Given the description of an element on the screen output the (x, y) to click on. 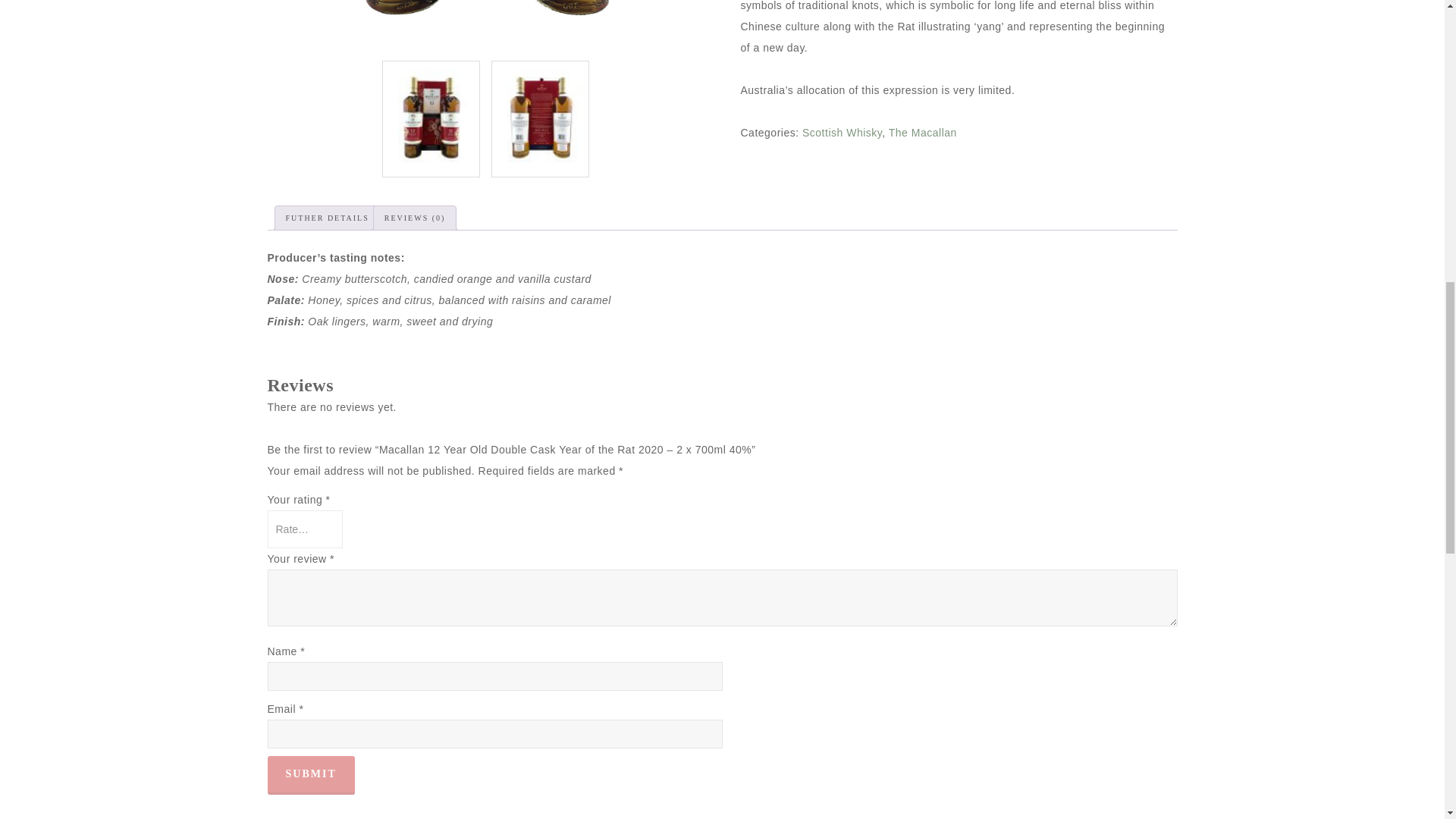
Submit (309, 774)
Macallan Year of the rat 2x700ml back (540, 117)
Submit (309, 774)
Scottish Whisky (842, 132)
The Macallan (922, 132)
Macallan Year of the rat 2x700ml (431, 117)
FUTHER DETAILS (326, 218)
Macallan Year of the rat 2x700ml (484, 24)
